Given the description of an element on the screen output the (x, y) to click on. 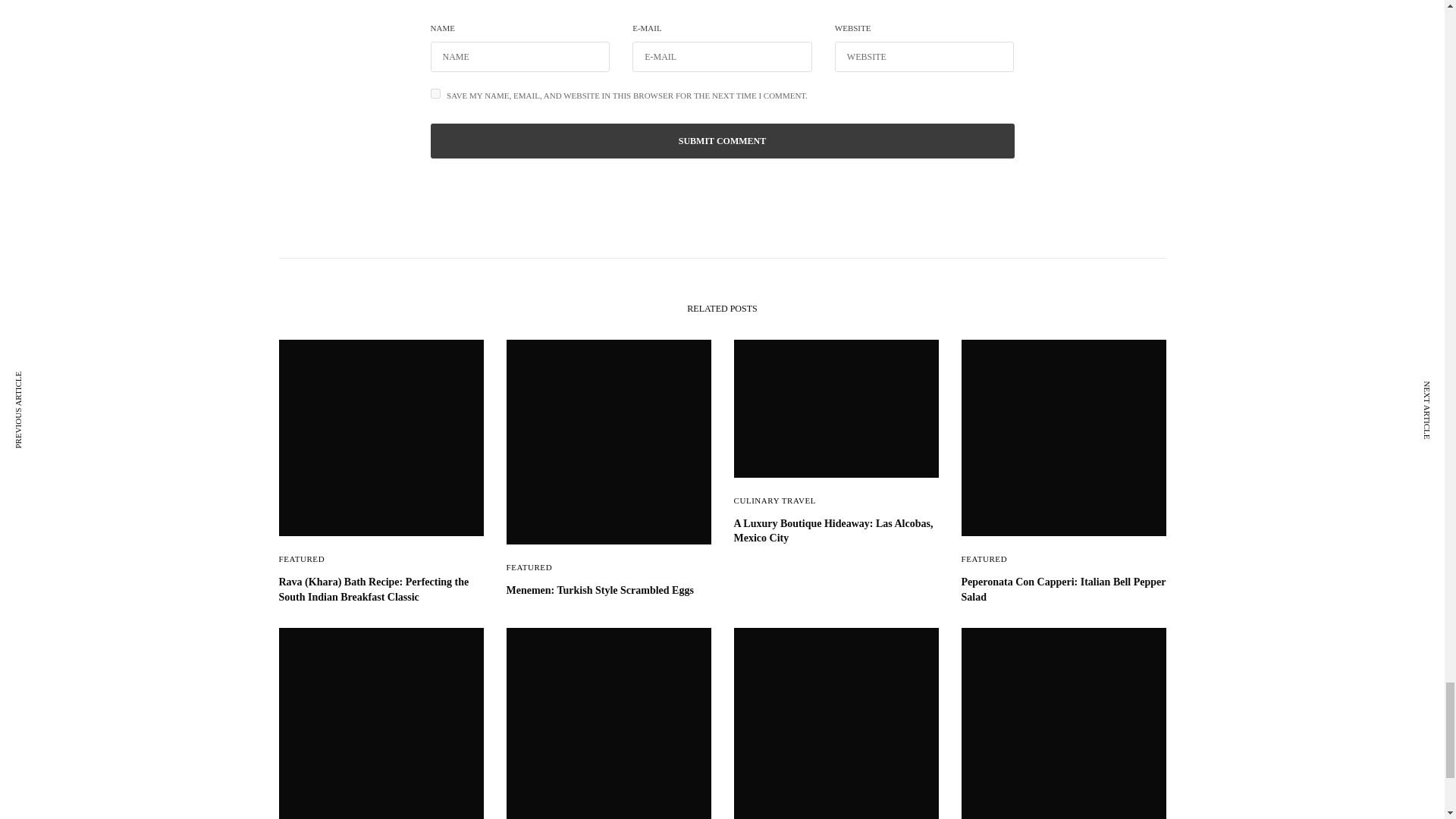
yes (435, 93)
Peperonata Con Capperi: Italian Bell Pepper Salad (1063, 589)
A Luxury Boutique Hideaway: Las Alcobas, Mexico City (836, 531)
Menemen: Turkish Style Scrambled Eggs (608, 590)
Submit Comment (722, 140)
